Given the description of an element on the screen output the (x, y) to click on. 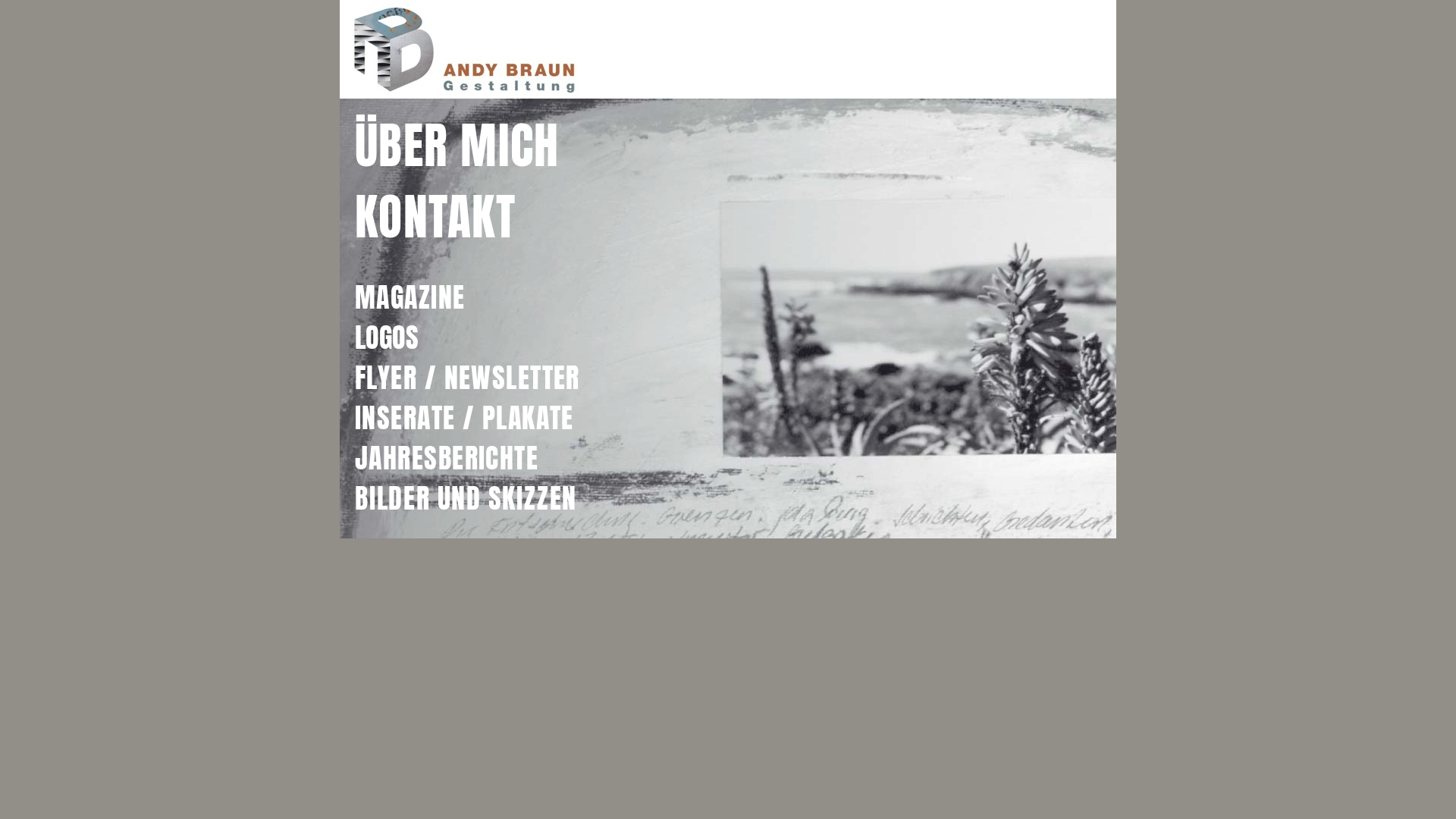
JAHRESBERICHTE Element type: text (446, 457)
MAGAZINE Element type: text (409, 296)
INSERATE / PLAKATE Element type: text (464, 417)
BILDER UND SKIZZEN Element type: text (465, 497)
LOGOS Element type: text (386, 336)
KONTAKT Element type: text (434, 216)
FLYER / NEWSLETTER Element type: text (467, 377)
